Given the description of an element on the screen output the (x, y) to click on. 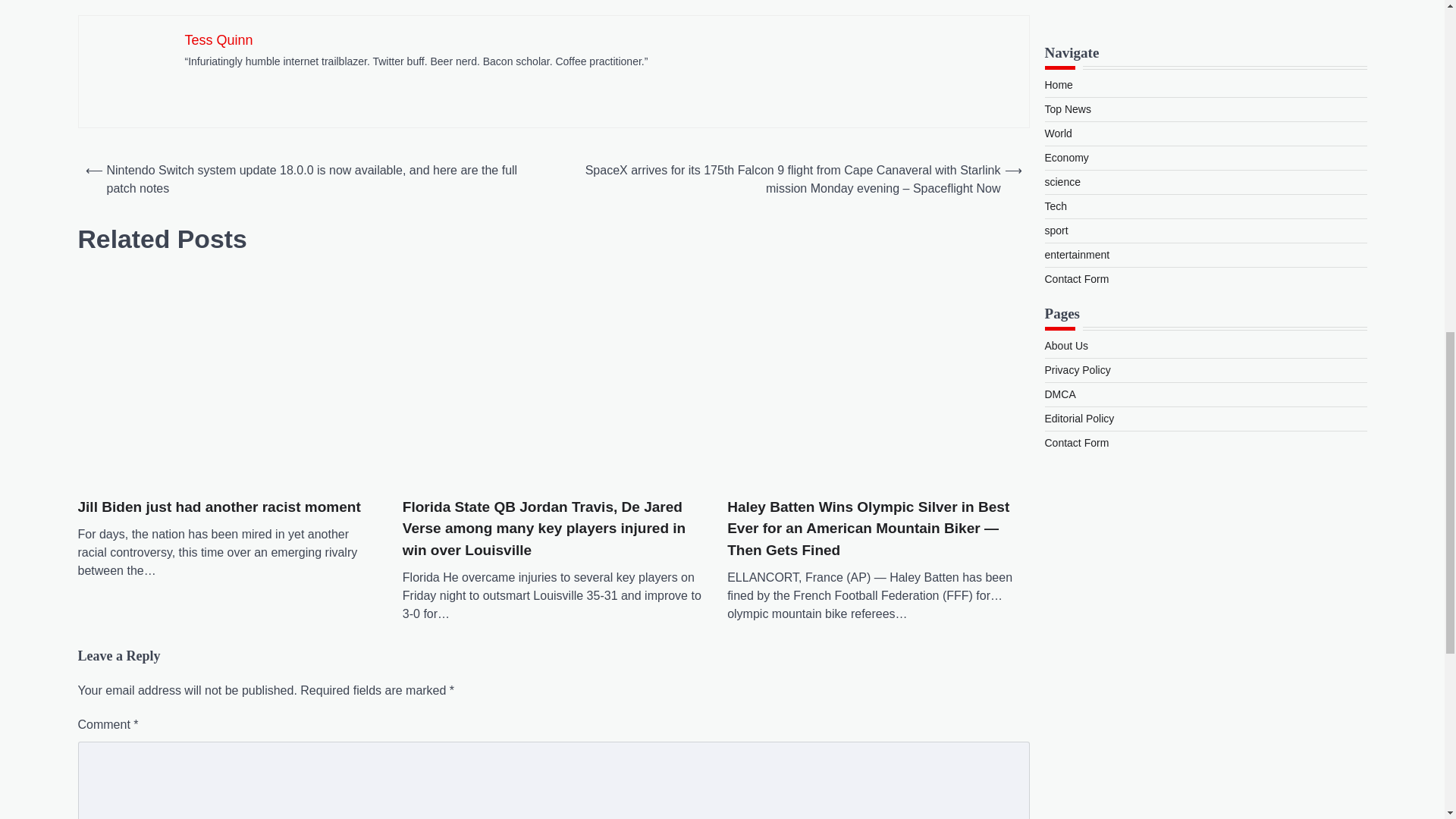
Jill Biden just had another racist moment (227, 375)
Jill Biden just had another racist moment (218, 506)
Tess Quinn (218, 39)
